Given the description of an element on the screen output the (x, y) to click on. 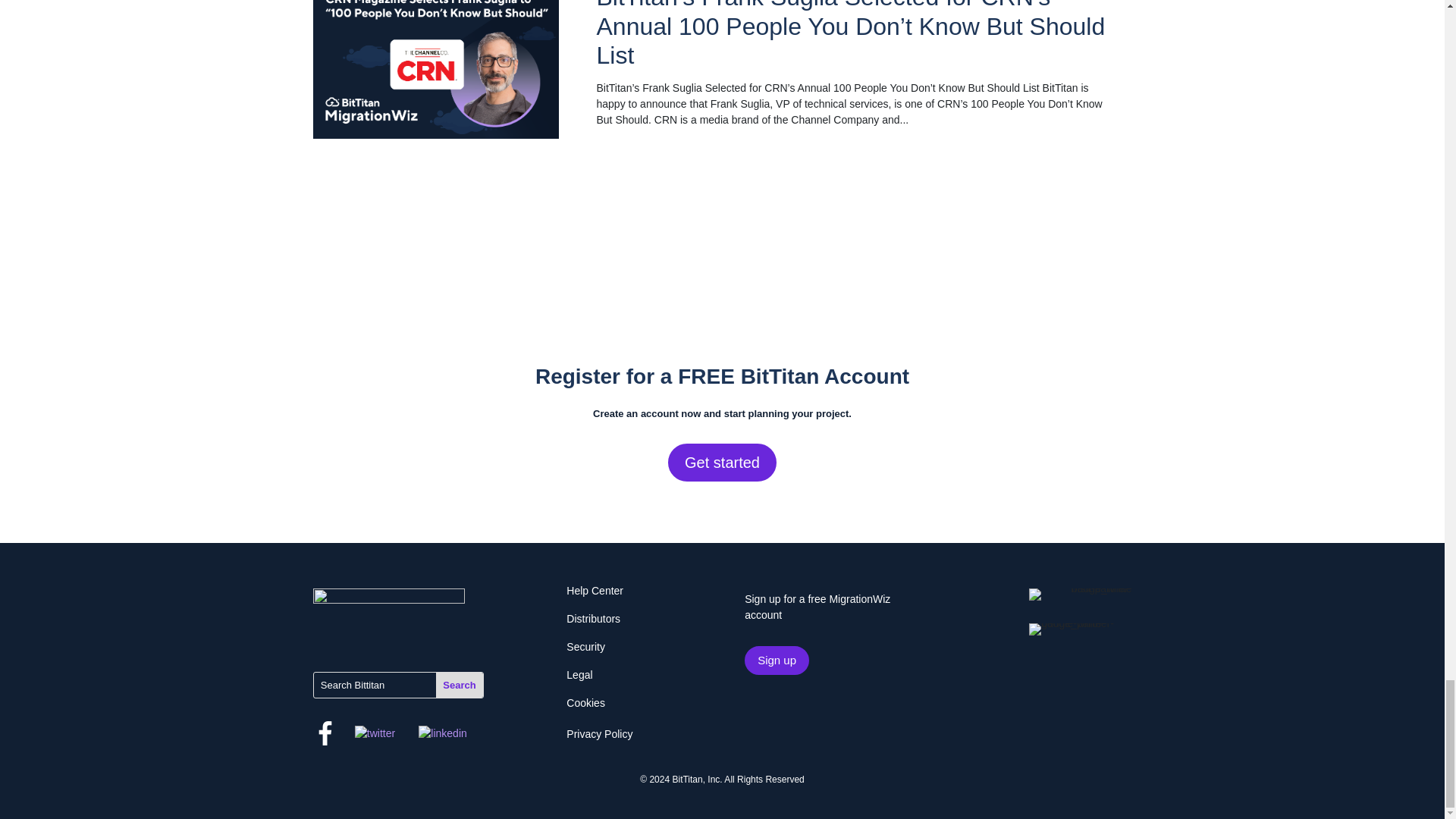
Search (459, 685)
Search (459, 685)
